Given the description of an element on the screen output the (x, y) to click on. 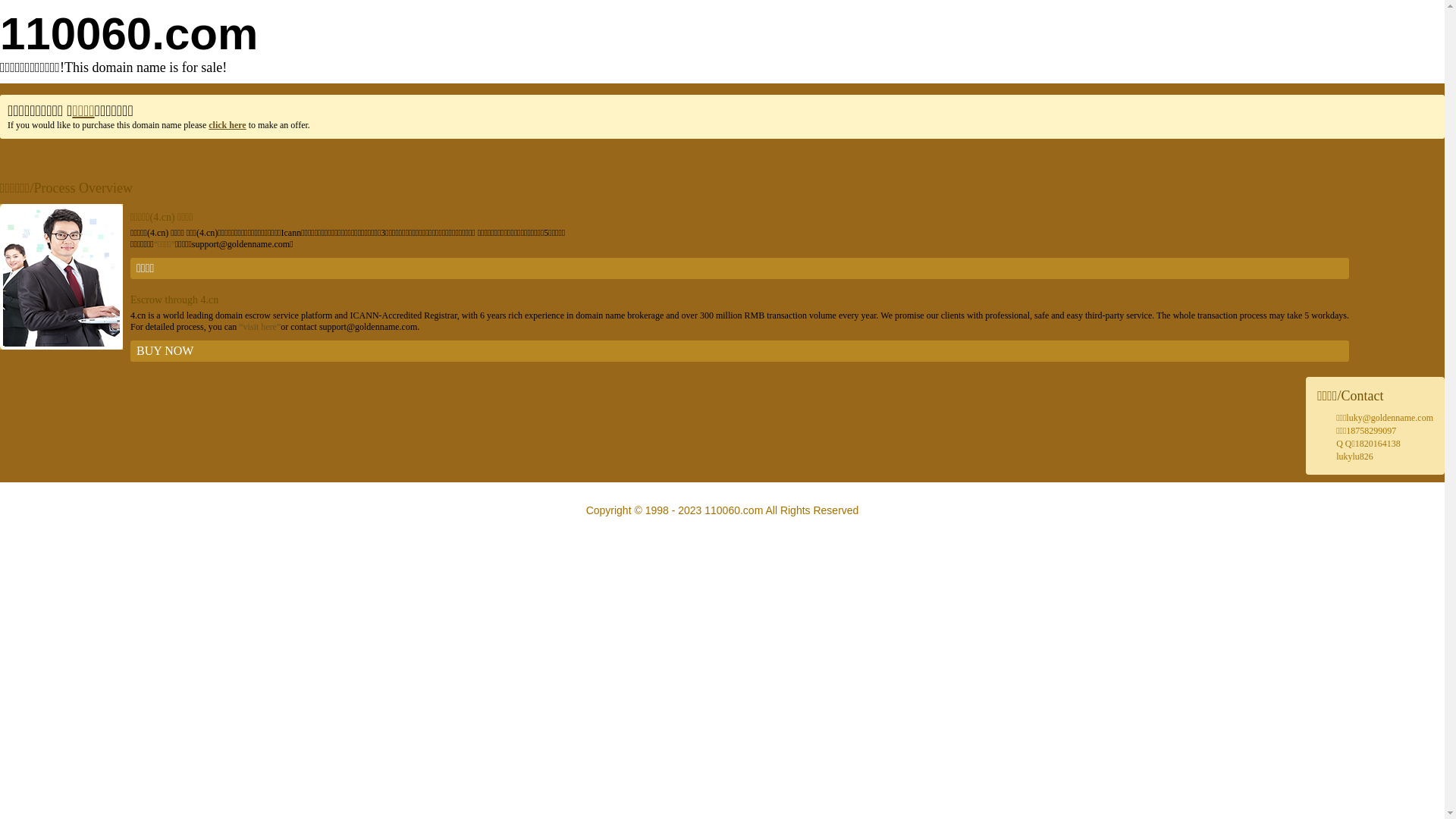
BUY NOW Element type: text (739, 350)
click here Element type: text (226, 124)
